Given the description of an element on the screen output the (x, y) to click on. 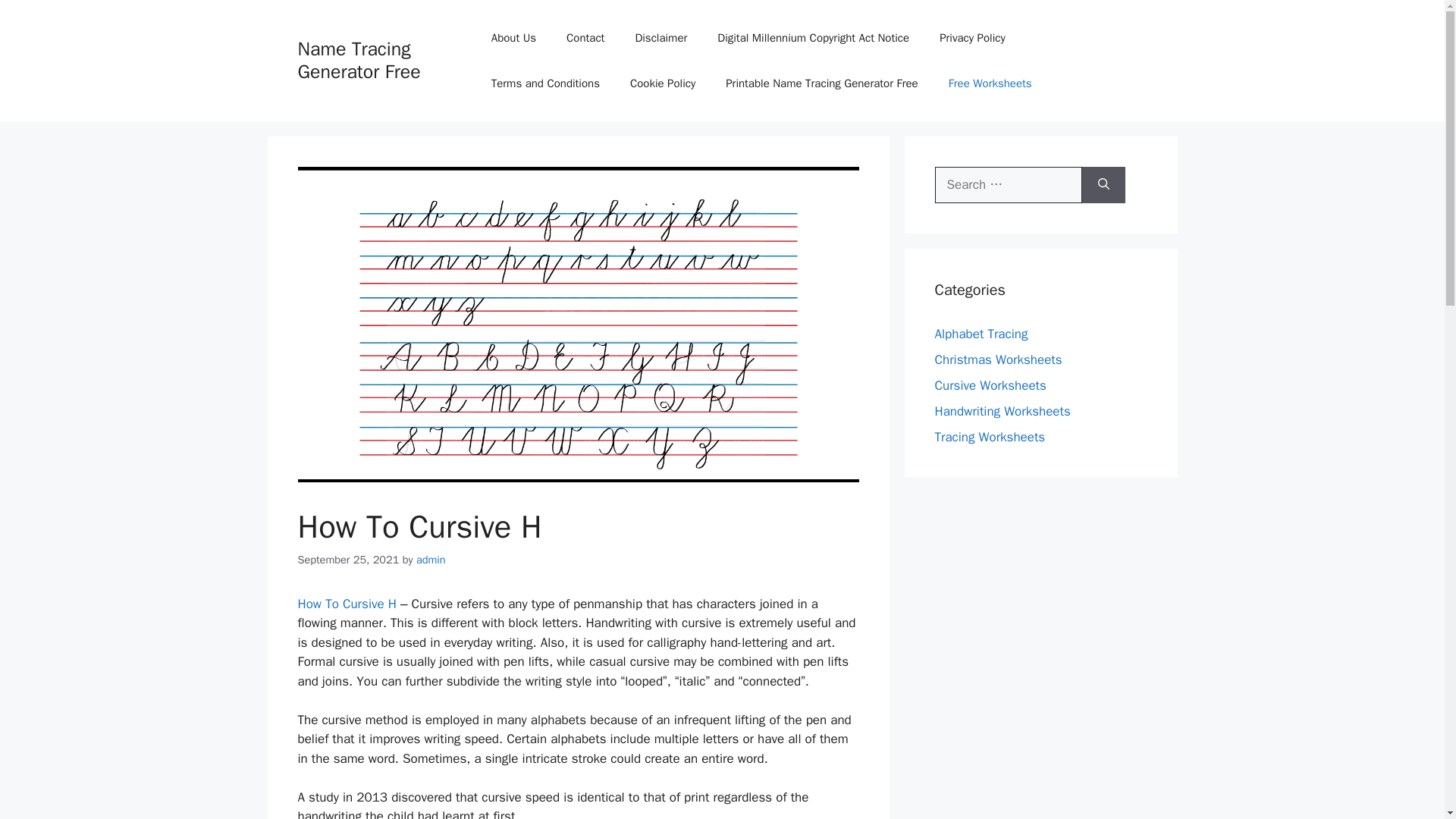
Digital Millennium Copyright Act Notice (812, 37)
Alphabet Tracing (980, 333)
Contact (585, 37)
admin (430, 559)
Cookie Policy (662, 83)
Cursive Worksheets (989, 385)
View all posts by admin (430, 559)
Disclaimer (660, 37)
Christmas Worksheets (997, 359)
Search for: (1007, 185)
Terms and Conditions (545, 83)
Name Tracing Generator Free (358, 59)
Privacy Policy (972, 37)
Printable Name Tracing Generator Free (821, 83)
How To Cursive H (346, 603)
